Given the description of an element on the screen output the (x, y) to click on. 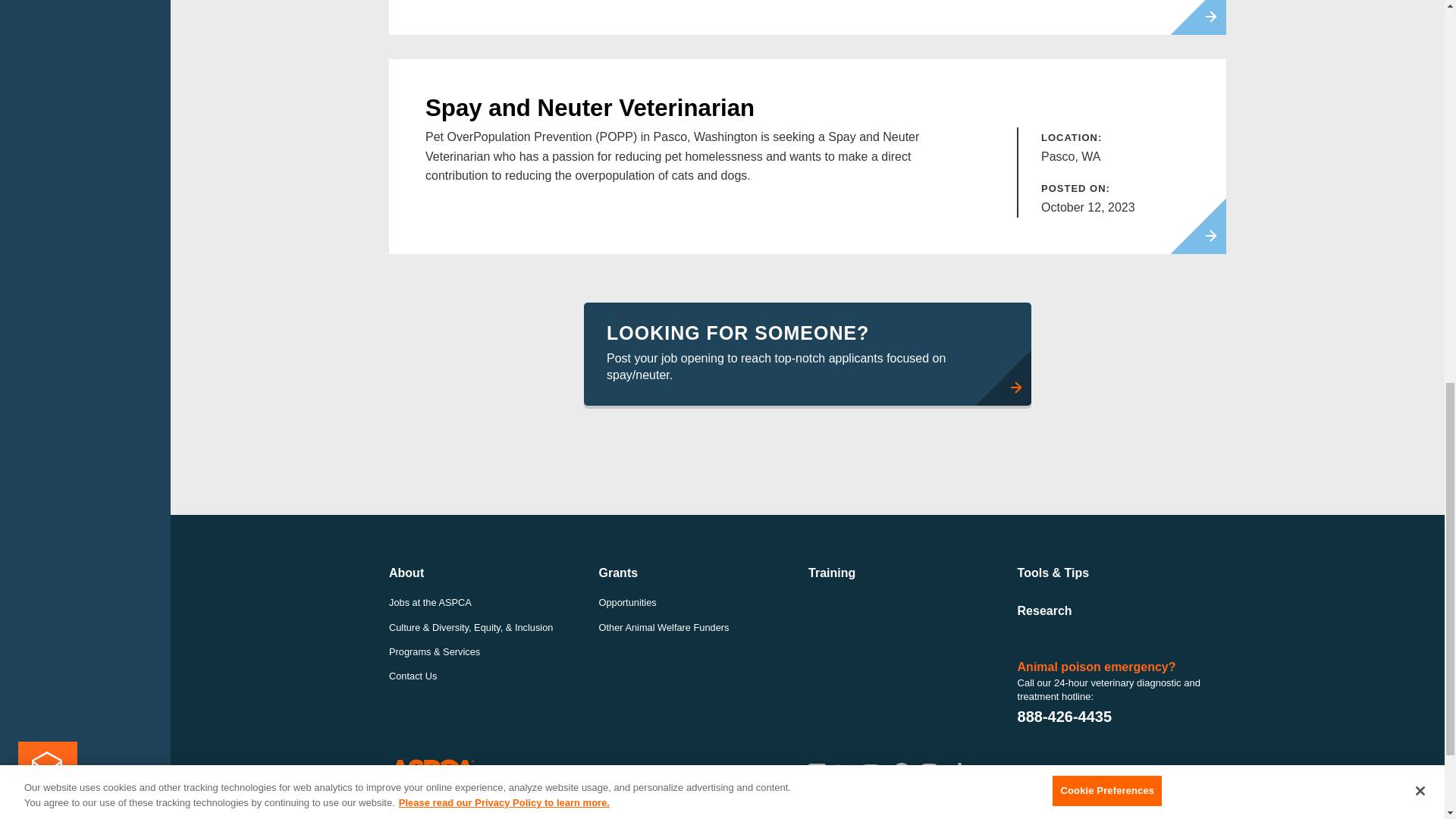
YouTube (871, 772)
Pinterest (901, 771)
Facebook (816, 772)
Twitter (843, 772)
Instagram (928, 772)
